Given the description of an element on the screen output the (x, y) to click on. 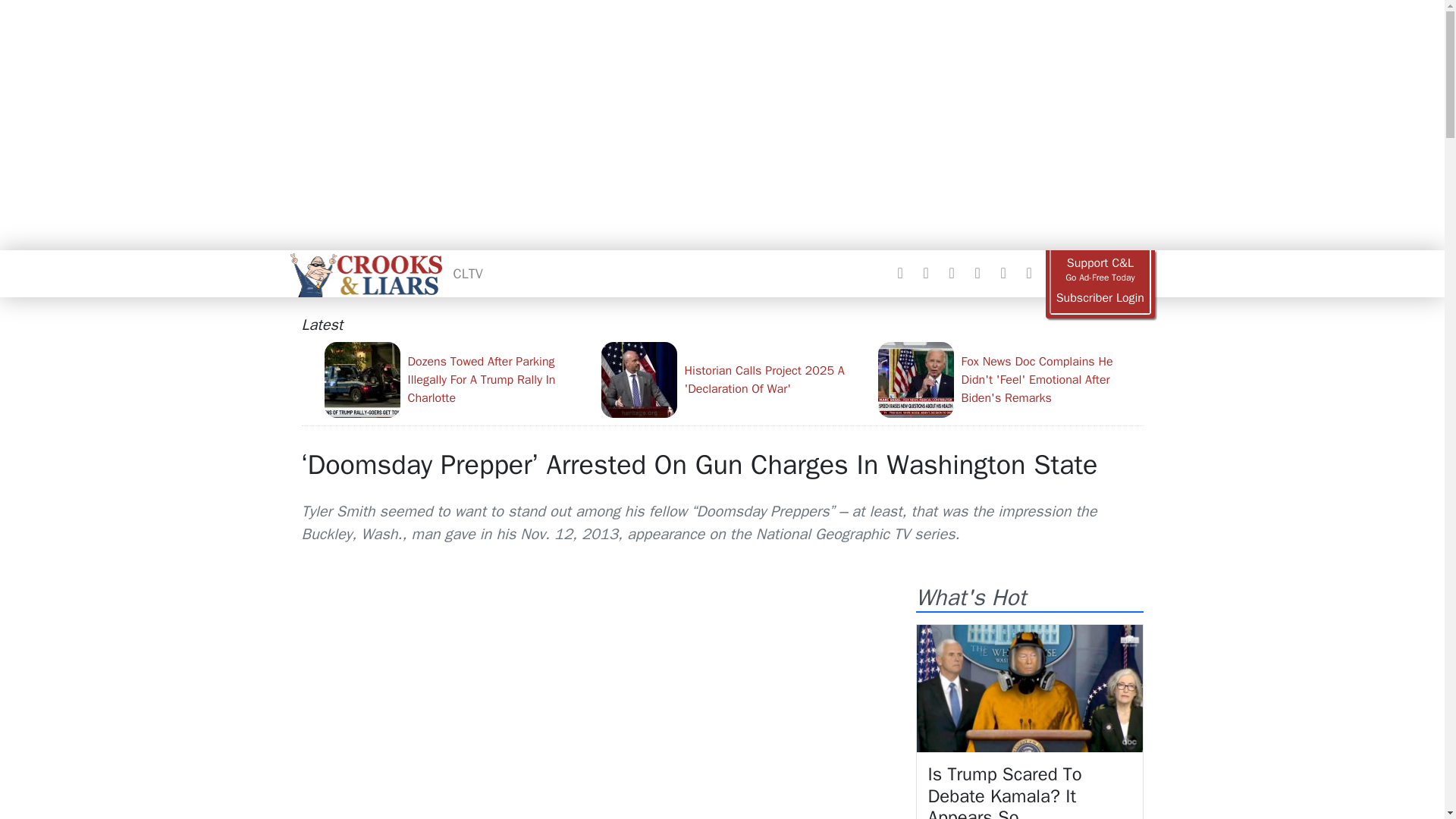
Go ad free today! (1099, 270)
CLTV (467, 273)
Search (1029, 273)
Subscribe to our news letter (1002, 273)
Subscriber Login (1099, 298)
Login to your ad free account (1099, 298)
Historian Calls Project 2025 A 'Declaration Of War' (732, 379)
Historian Calls Project 2025 A 'Declaration Of War' (732, 379)
